Given the description of an element on the screen output the (x, y) to click on. 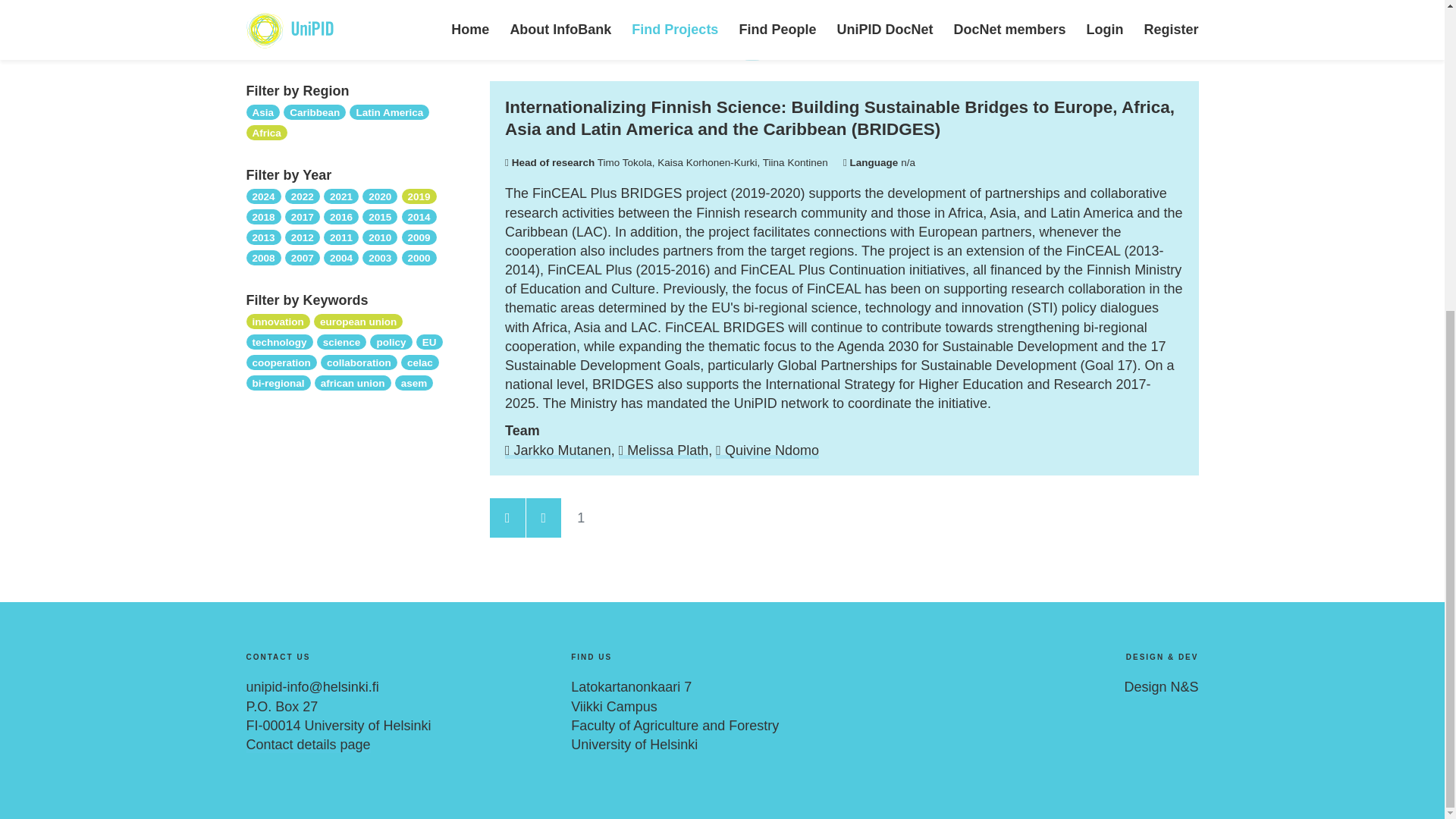
technology (279, 340)
2000 (418, 256)
2017 (302, 215)
2013 (263, 236)
2016 (340, 215)
2014 (418, 215)
2008 (263, 256)
Asia (262, 111)
2009 (418, 236)
2011 (340, 236)
2019 (418, 195)
2024 (263, 195)
2015 (379, 215)
2012 (302, 236)
european union (358, 320)
